Given the description of an element on the screen output the (x, y) to click on. 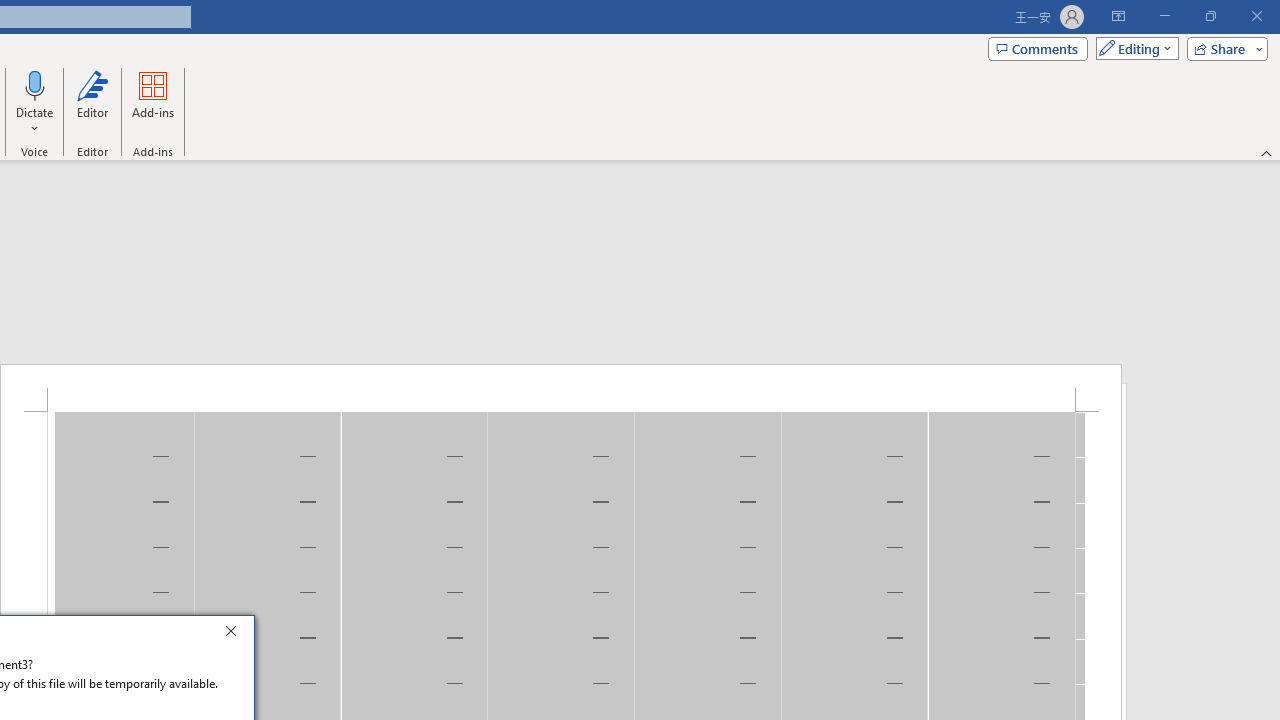
Header -Section 1- (561, 387)
Mode (1133, 47)
